Given the description of an element on the screen output the (x, y) to click on. 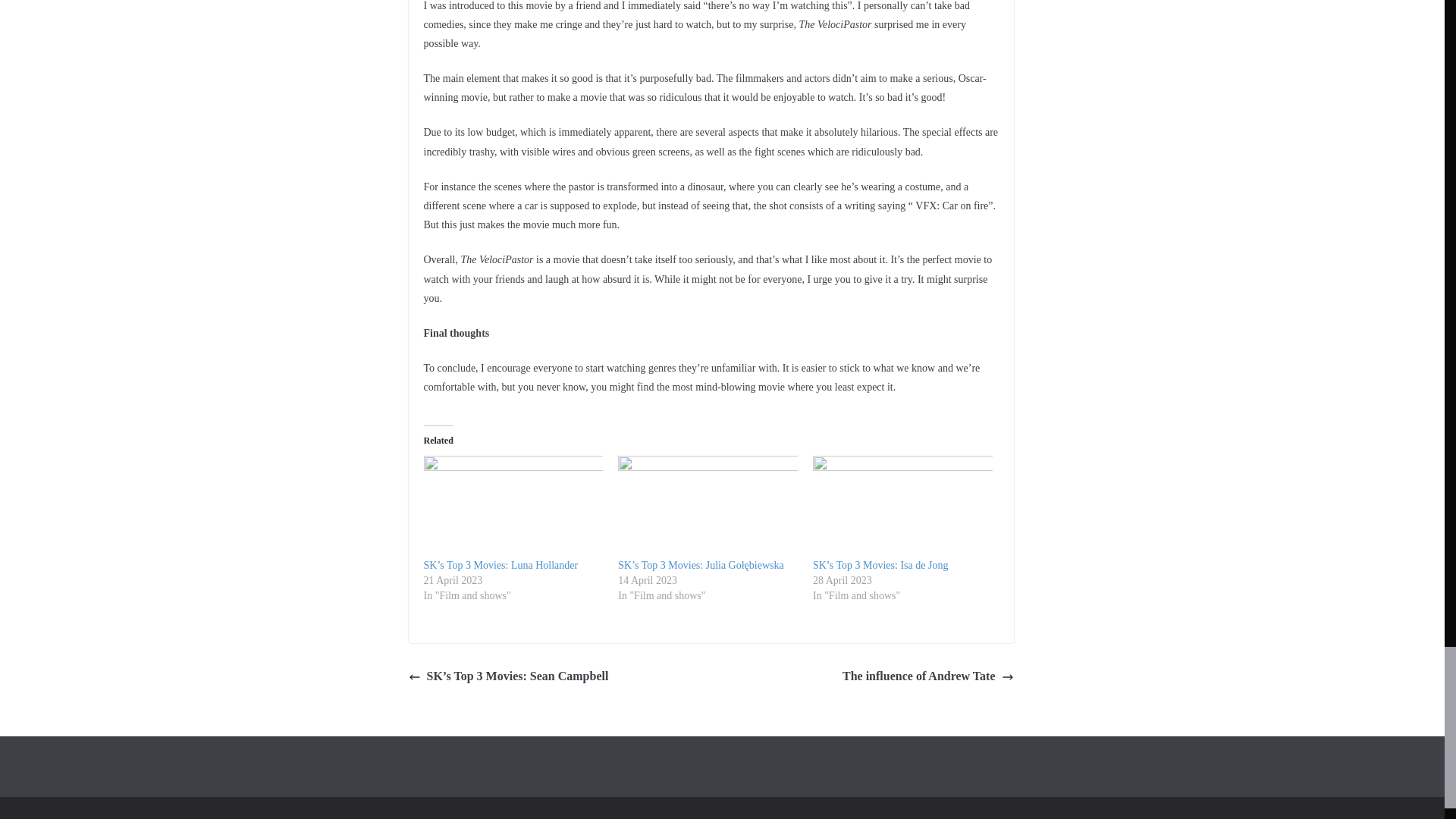
The influence of Andrew Tate (928, 676)
